Given the description of an element on the screen output the (x, y) to click on. 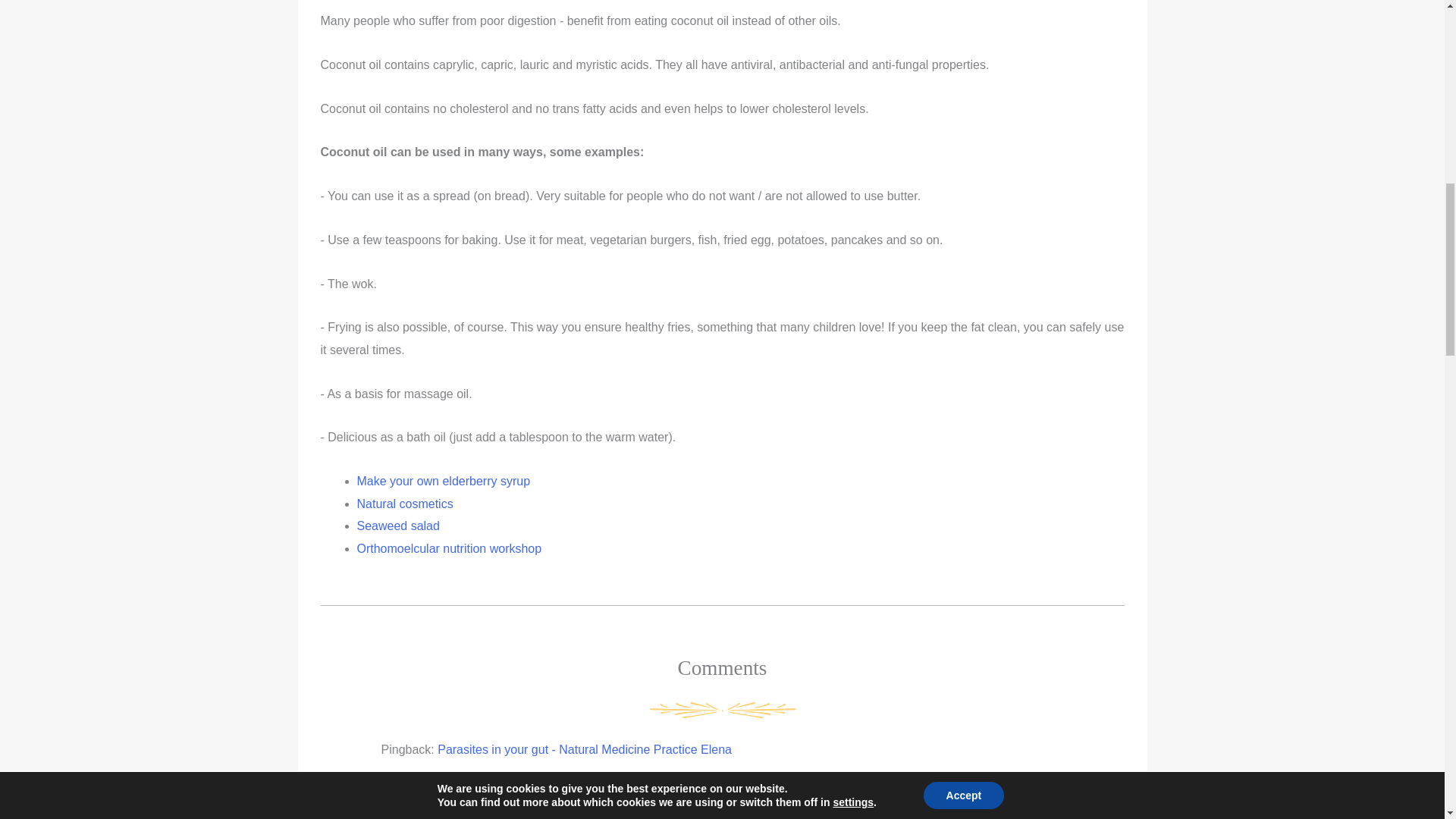
Natural cosmetics (404, 503)
Parasites in your gut - Natural Medicine Practice Elena (585, 748)
Orthomoelcular nutrition workshop (448, 548)
Seaweed salad (397, 525)
Make your own elderberry syrup (442, 481)
